Given the description of an element on the screen output the (x, y) to click on. 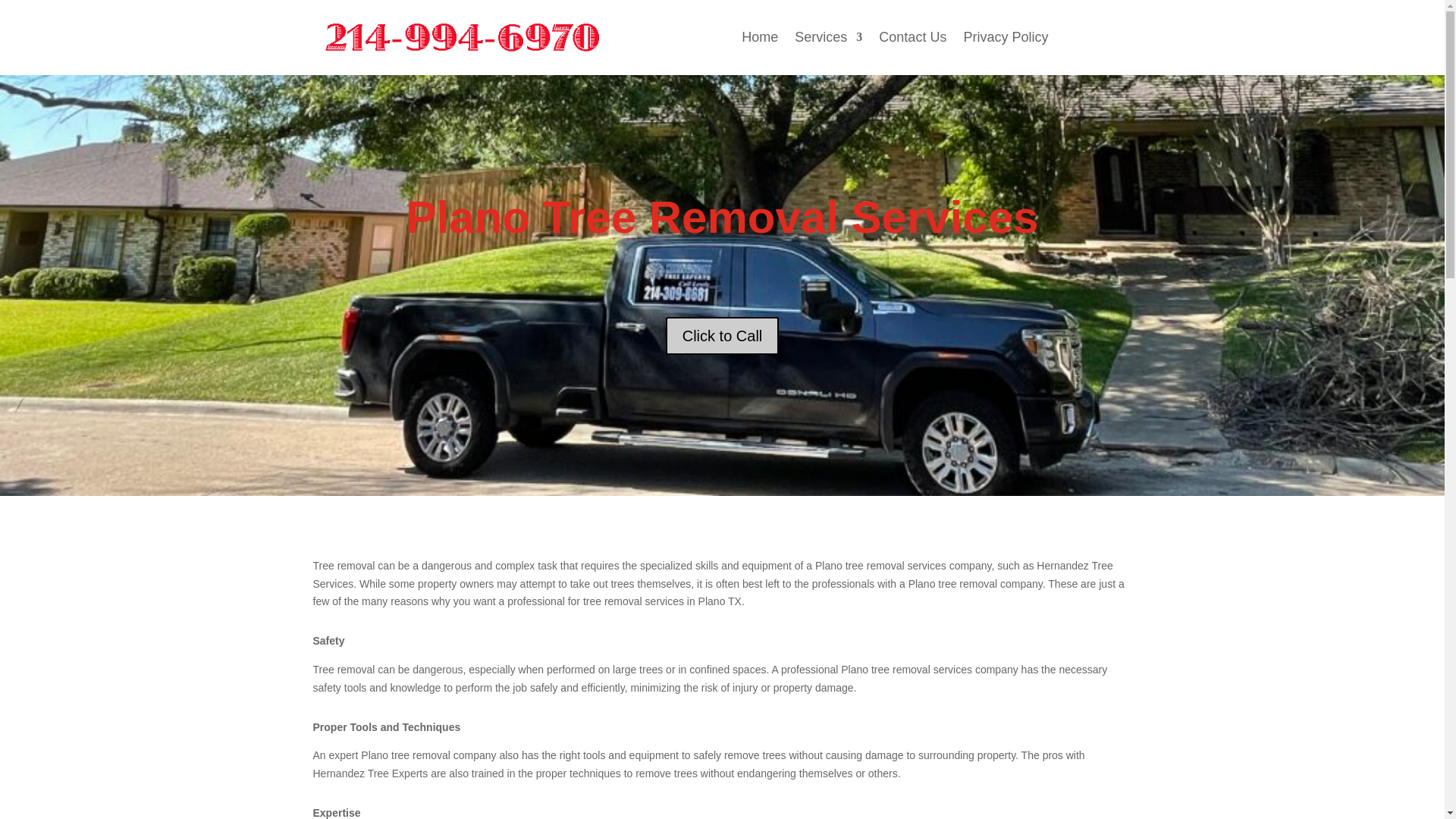
Privacy Policy (1005, 39)
Services (827, 39)
Click to Call (721, 335)
Home (759, 39)
phone2 (462, 38)
Contact Us (912, 39)
